Given the description of an element on the screen output the (x, y) to click on. 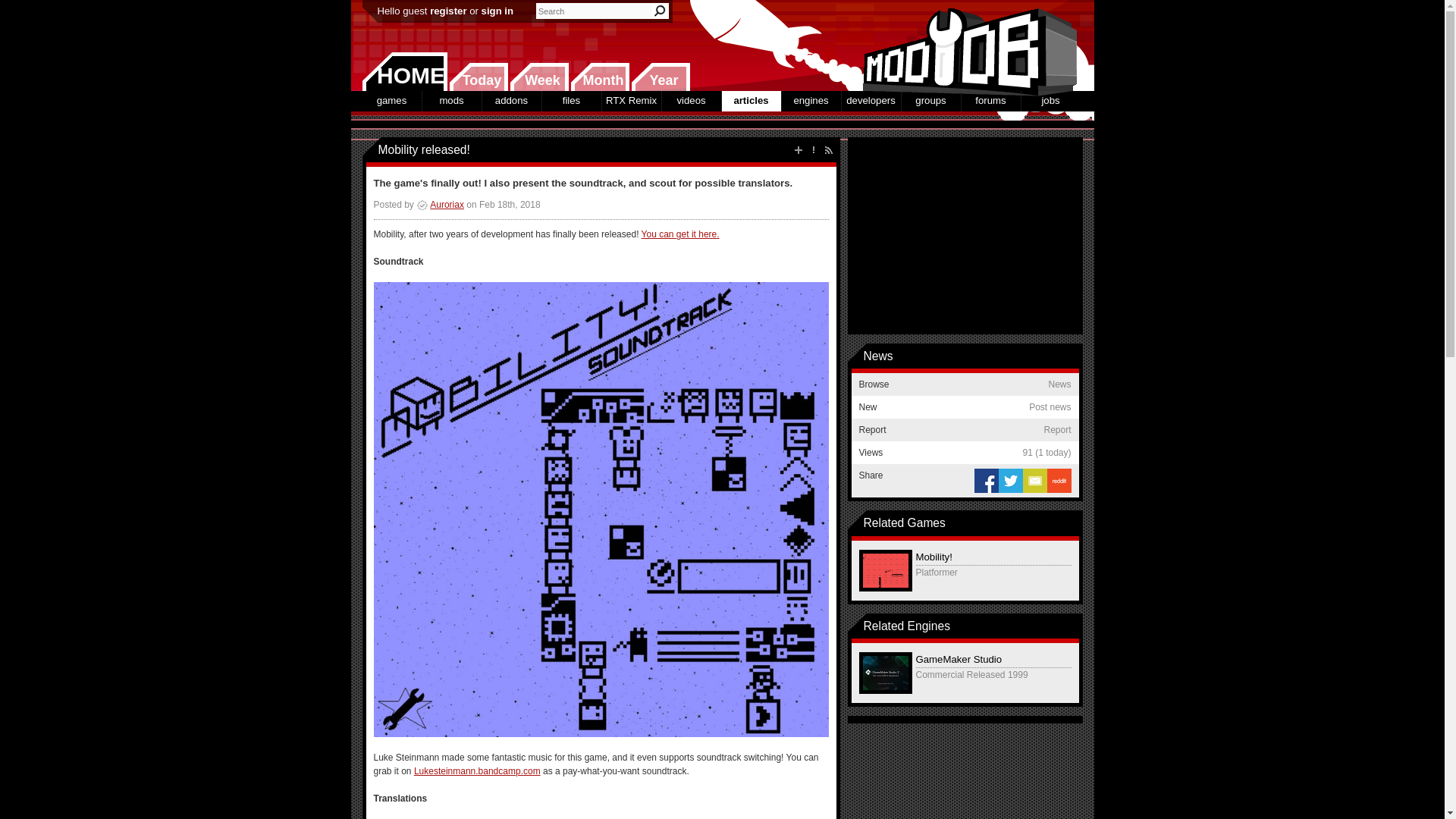
Search (660, 10)
HOME (405, 71)
Week (539, 76)
RSS (828, 150)
Year (660, 76)
New this month (599, 76)
Post news (797, 150)
ModDB Home (965, 45)
Today (478, 76)
Report (813, 150)
Article Manager (440, 204)
New this year (660, 76)
Search ModDB (660, 10)
games (392, 100)
addons (511, 100)
